Given the description of an element on the screen output the (x, y) to click on. 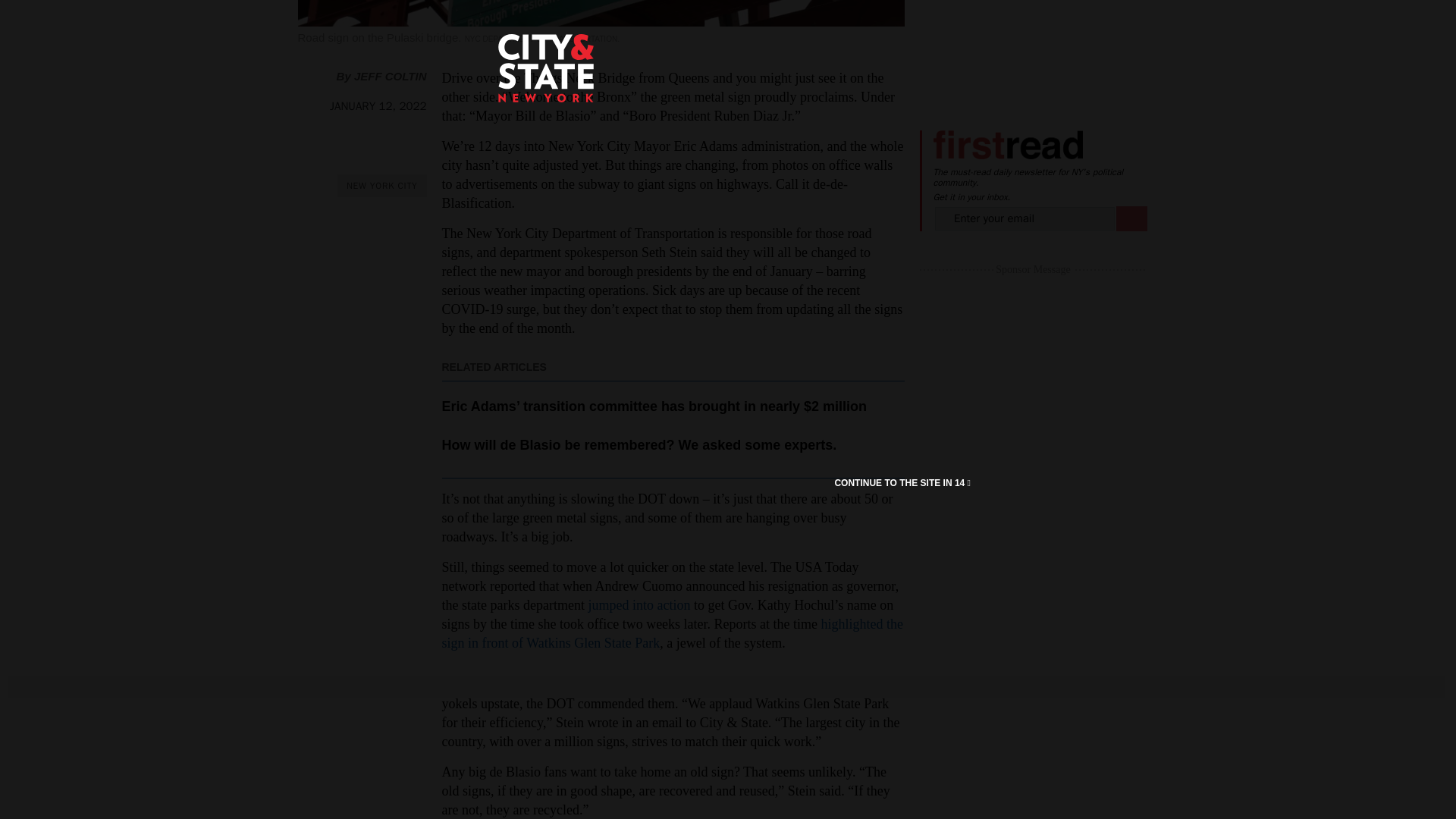
3rd party ad content (1032, 46)
